Given the description of an element on the screen output the (x, y) to click on. 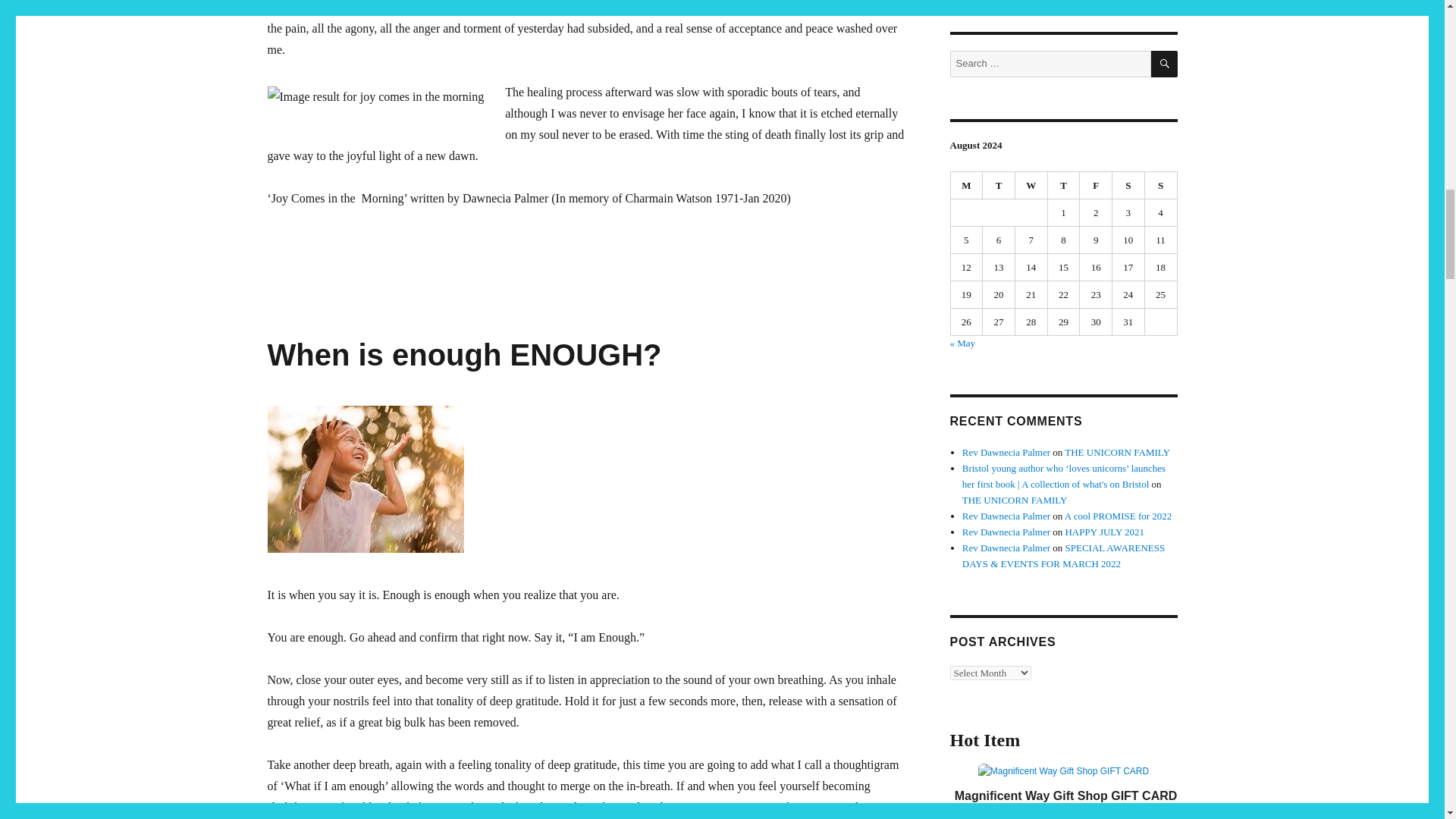
When is enough ENOUGH? (463, 354)
